Given the description of an element on the screen output the (x, y) to click on. 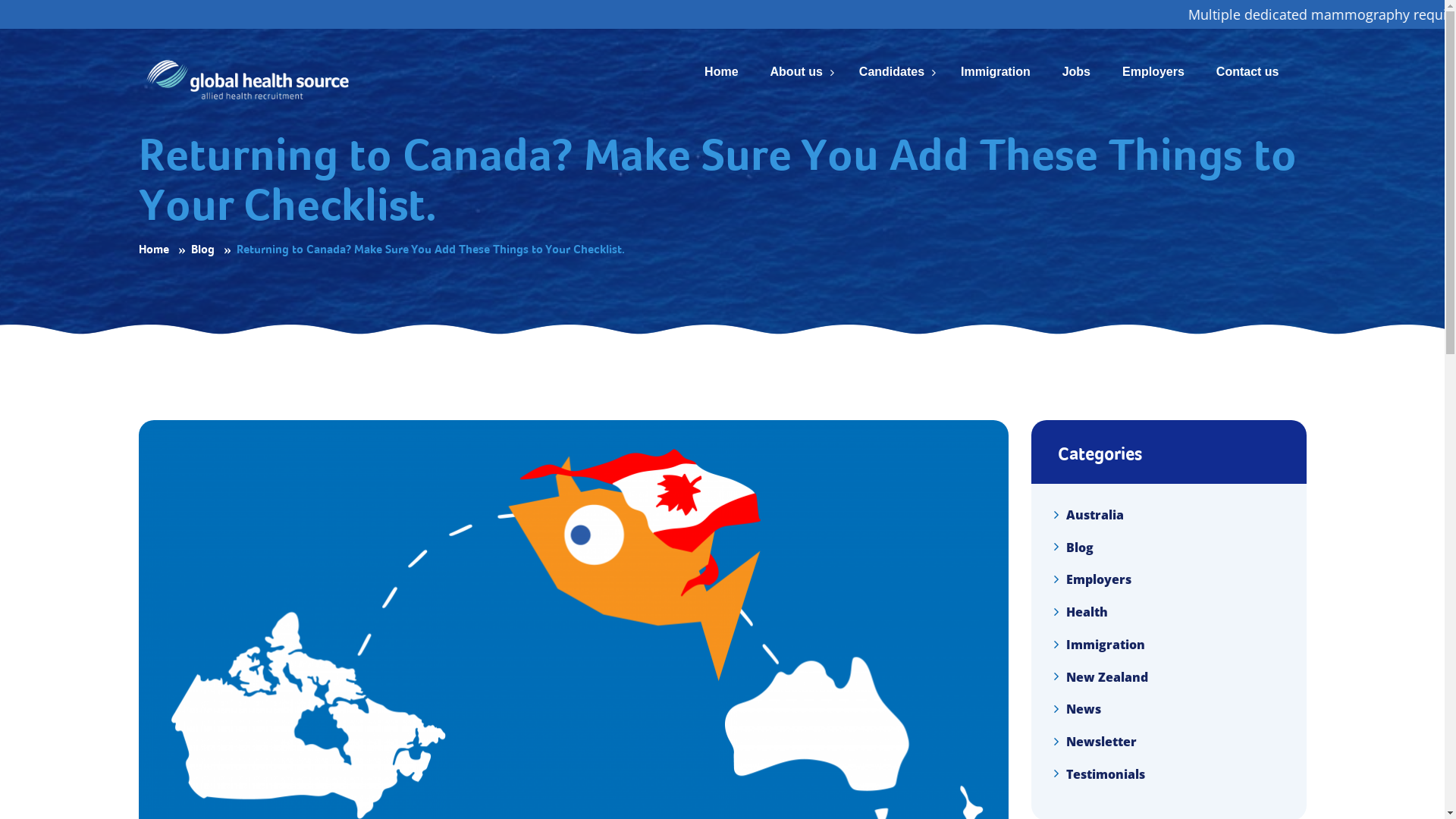
Immigration Element type: text (995, 64)
Home Element type: text (153, 249)
Newsletter Element type: text (1101, 741)
Jobs Element type: text (1076, 64)
New Zealand Element type: text (1107, 676)
Immigration Element type: text (1105, 644)
Home Element type: text (720, 64)
Employers Element type: text (1153, 64)
Testimonials Element type: text (1105, 773)
Health Element type: text (1086, 611)
Contact us Element type: text (1247, 64)
Candidates Element type: text (891, 64)
Australia Element type: text (1094, 514)
About us Element type: text (796, 64)
News Element type: text (1083, 708)
Blog Element type: text (1079, 546)
Employers Element type: text (1098, 579)
Blog Element type: text (202, 249)
